Given the description of an element on the screen output the (x, y) to click on. 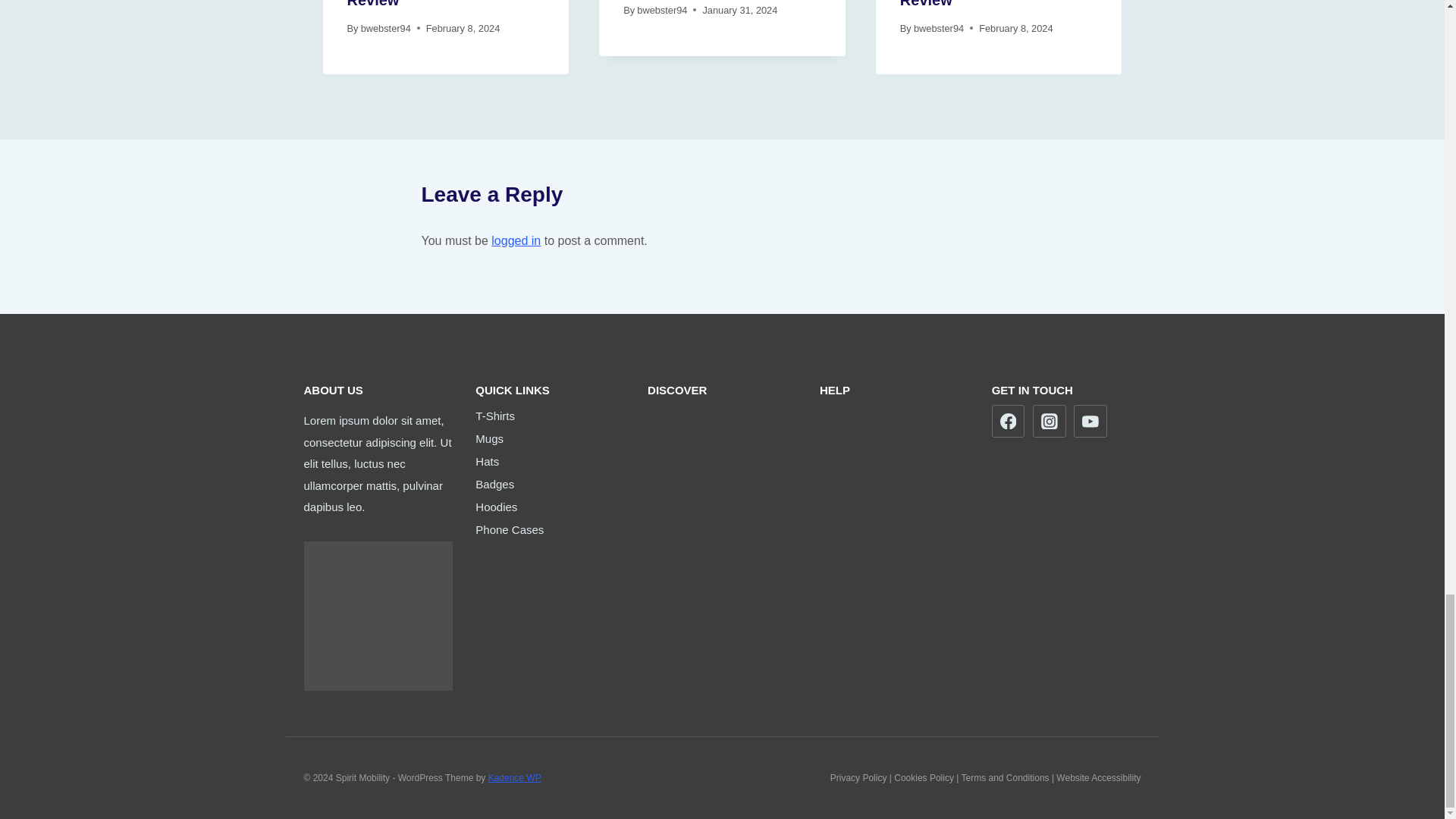
bwebster94 (385, 28)
Little Rascal Scooter Review (422, 4)
bwebster94 (662, 9)
